Given the description of an element on the screen output the (x, y) to click on. 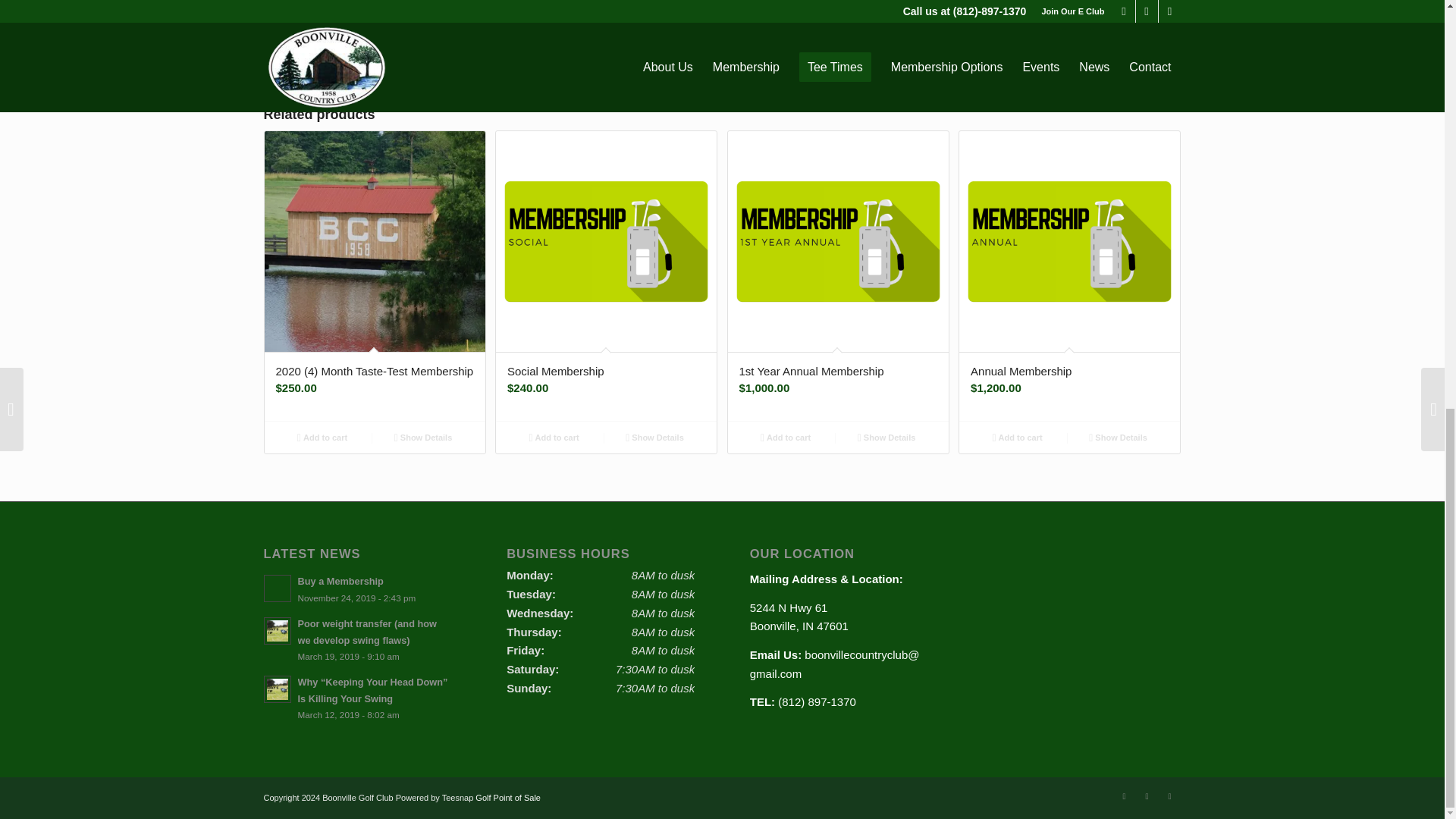
Show Details (422, 437)
Buy a Membership (357, 588)
Add to cart (321, 437)
